Given the description of an element on the screen output the (x, y) to click on. 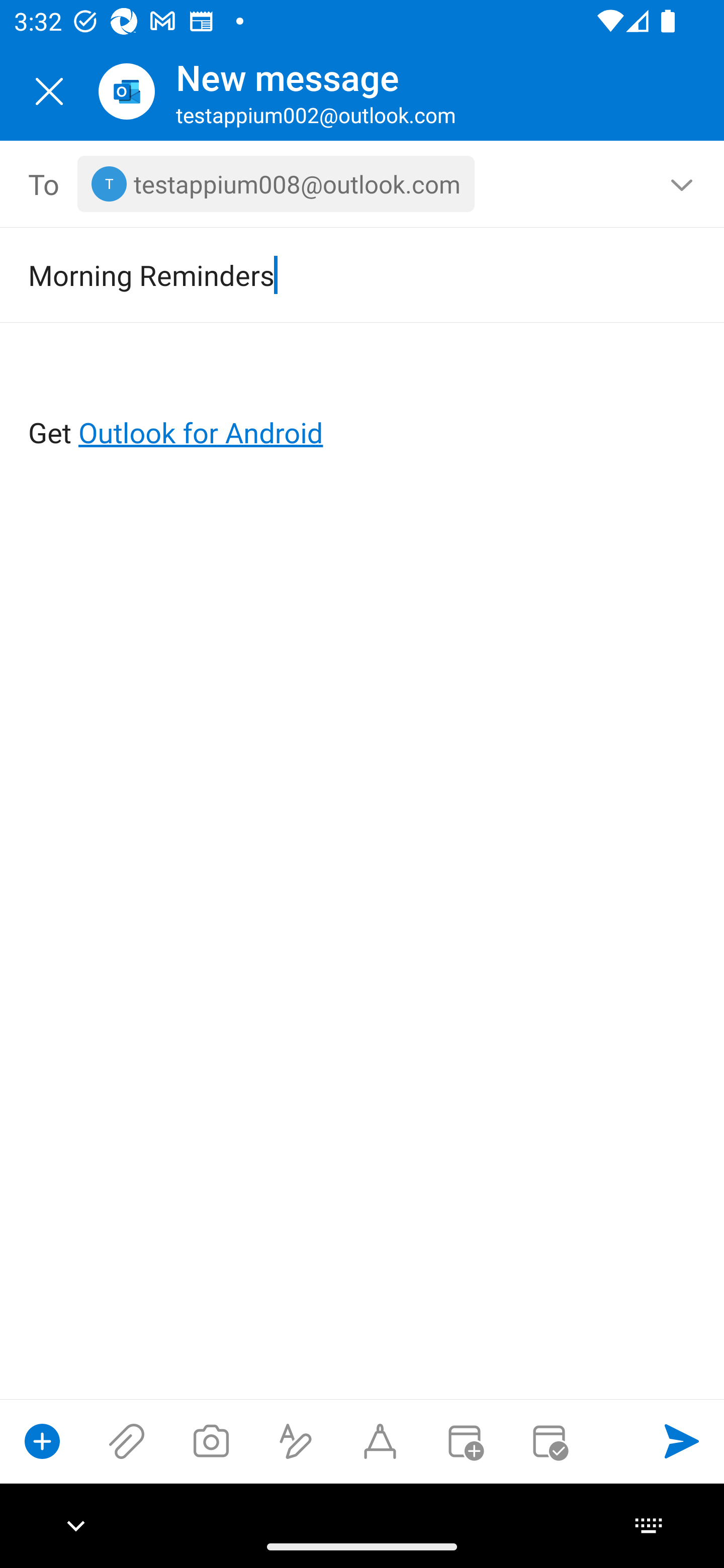
Close (49, 91)
To, 1 recipient <testappium008@outlook.com> (362, 184)
Morning Reminders (333, 274)


Get Outlook for Android (363, 400)
Show compose options (42, 1440)
Attach files (126, 1440)
Take a photo (210, 1440)
Show formatting options (295, 1440)
Start Ink compose (380, 1440)
Convert to event (464, 1440)
Send availability (548, 1440)
Send (681, 1440)
